Given the description of an element on the screen output the (x, y) to click on. 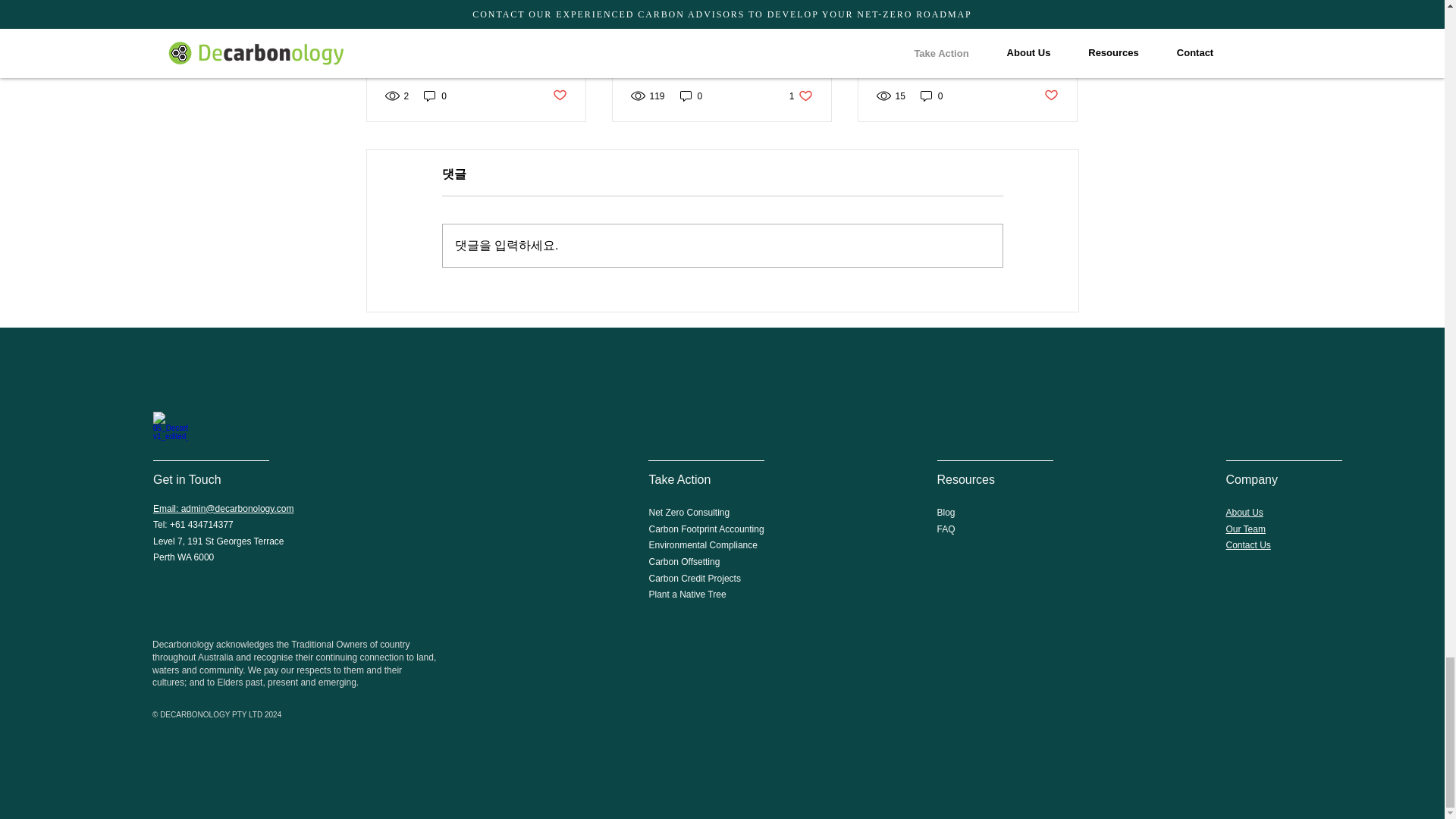
Post not marked as liked (558, 95)
0 (435, 95)
decarbonology logo (169, 428)
0 (691, 95)
